Given the description of an element on the screen output the (x, y) to click on. 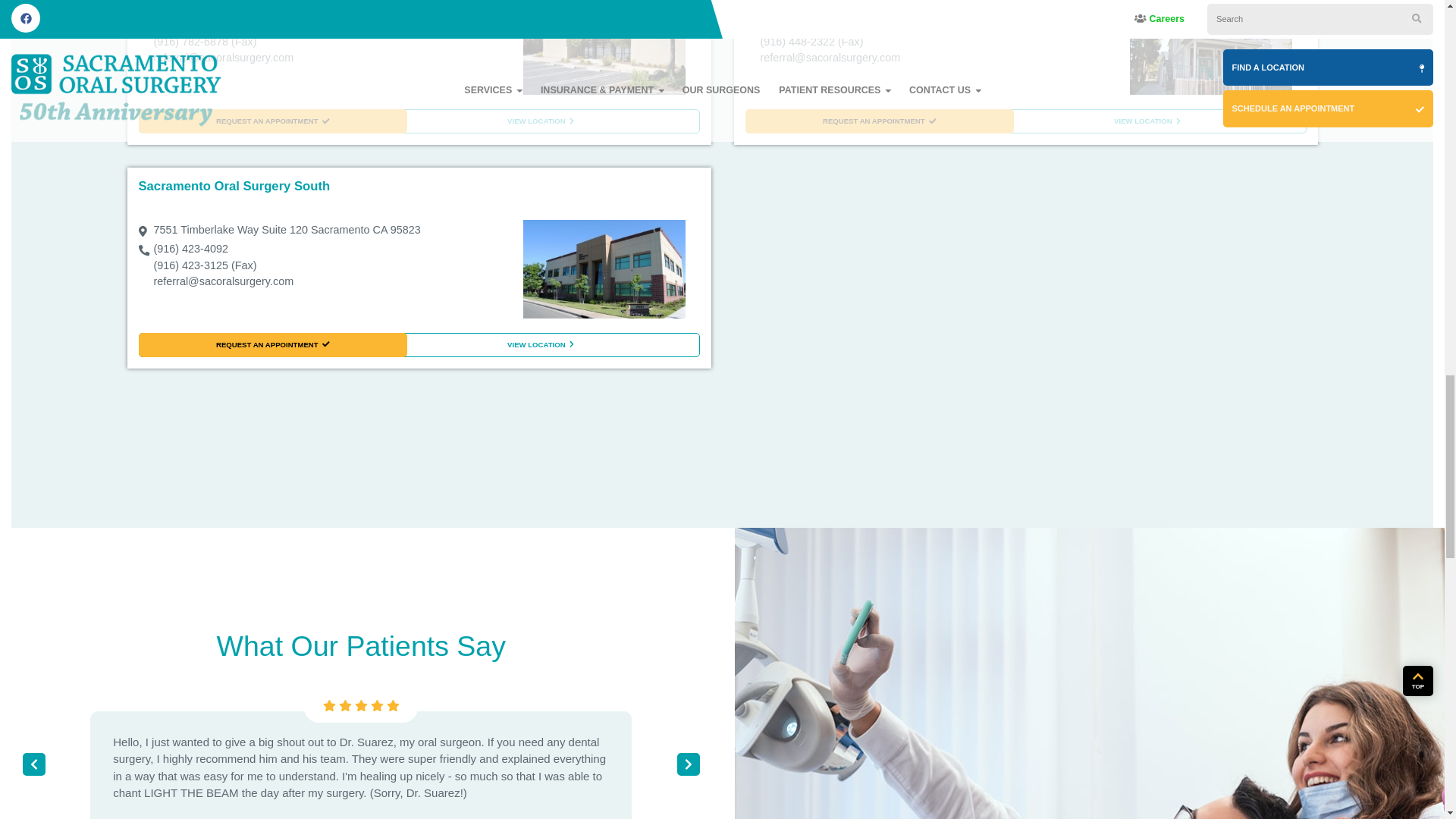
VIEW LOCATION (1147, 120)
REQUEST AN APPOINTMENT (878, 120)
VIEW LOCATION (540, 120)
VIEW LOCATION (540, 344)
REQUEST AN APPOINTMENT (272, 344)
REQUEST AN APPOINTMENT (272, 120)
